Given the description of an element on the screen output the (x, y) to click on. 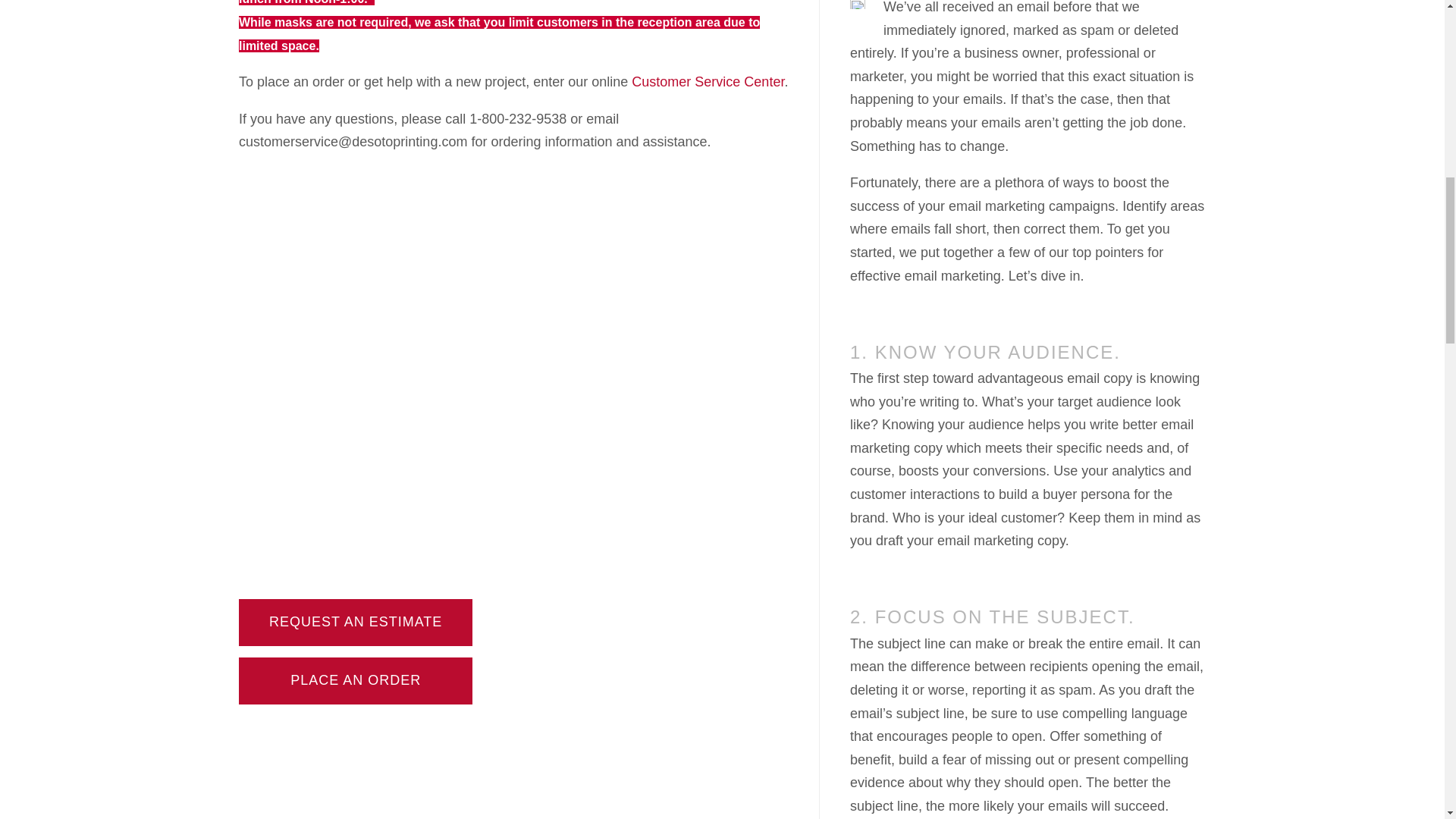
Customer Service Center (707, 81)
PLACE AN ORDER (354, 679)
REQUEST AN ESTIMATE (355, 621)
